Given the description of an element on the screen output the (x, y) to click on. 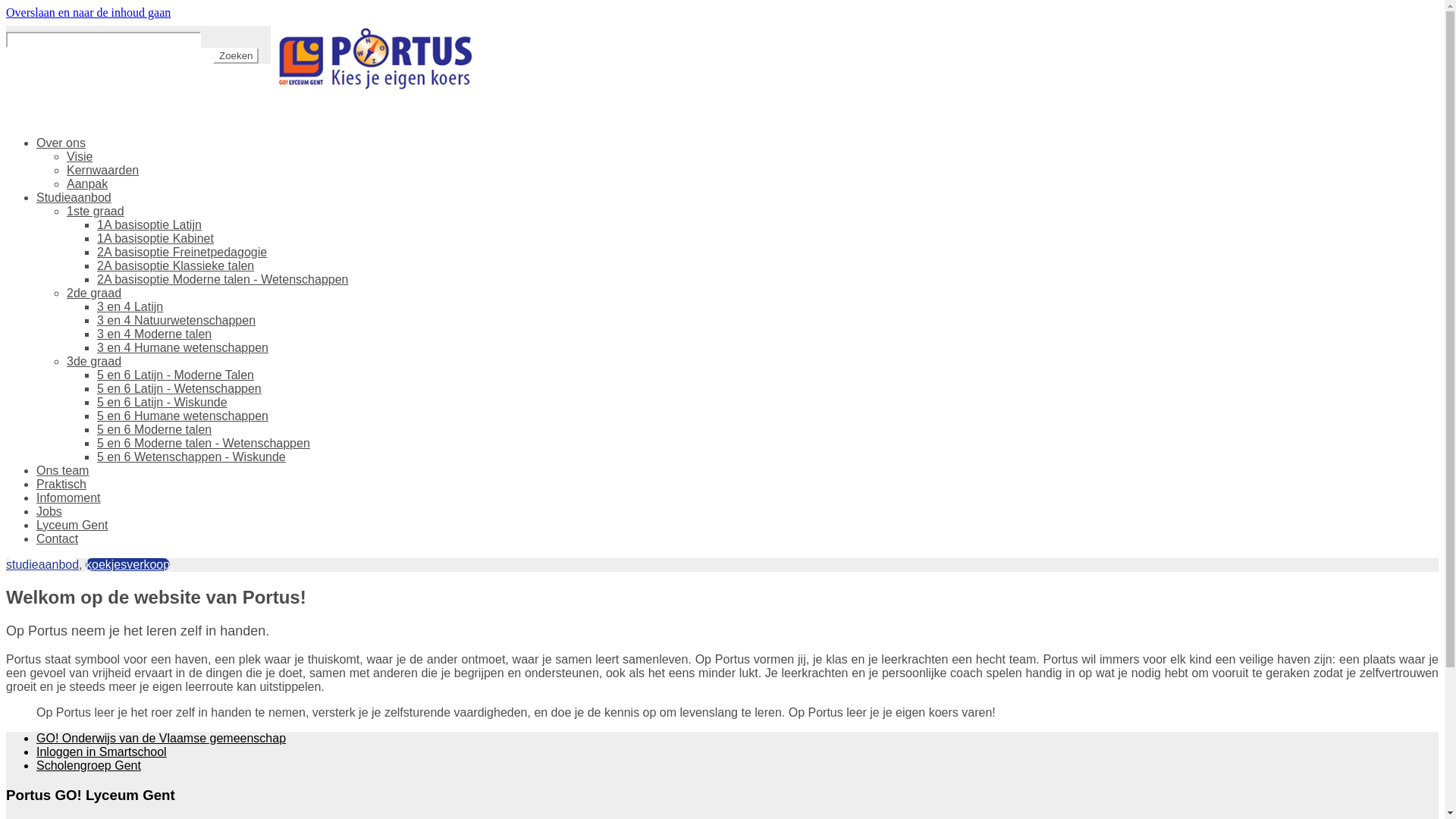
3 en 4 Natuurwetenschappen Element type: text (176, 319)
2A basisoptie Klassieke talen Element type: text (175, 265)
Overslaan en naar de inhoud gaan Element type: text (88, 12)
2A basisoptie Freinetpedagogie Element type: text (181, 251)
Contact Element type: text (57, 538)
studieaanbod Element type: text (42, 564)
5 en 6 Latijn - Wetenschappen Element type: text (179, 388)
Scholengroep Gent Element type: text (88, 765)
Kernwaarden Element type: text (102, 169)
3 en 4 Humane wetenschappen Element type: text (182, 347)
5 en 6 Humane wetenschappen Element type: text (182, 415)
1A basisoptie Latijn Element type: text (149, 224)
5 en 6 Latijn - Moderne Talen Element type: text (175, 374)
Jobs Element type: text (49, 511)
Visie Element type: text (79, 156)
5 en 6 Wetenschappen - Wiskunde Element type: text (191, 456)
Infomoment Element type: text (68, 497)
Home | Portus GO! Lyceum Gent Element type: hover (372, 89)
GO! Onderwijs van de Vlaamse gemeenschap Element type: text (160, 737)
Home | Portus GO! Lyceum Gent Element type: hover (372, 59)
Studieaanbod Element type: text (73, 197)
3 en 4 Moderne talen Element type: text (154, 333)
Inloggen in Smartschool Element type: text (101, 751)
5 en 6 Moderne talen Element type: text (154, 429)
Over ons Element type: text (60, 142)
1ste graad Element type: text (95, 210)
5 en 6 Moderne talen - Wetenschappen Element type: text (203, 442)
1A basisoptie Kabinet Element type: text (155, 238)
5 en 6 Latijn - Wiskunde Element type: text (162, 401)
2A basisoptie Moderne talen - Wetenschappen Element type: text (222, 279)
3 en 4 Latijn Element type: text (130, 306)
Praktisch Element type: text (61, 483)
Aanpak Element type: text (86, 183)
Lyceum Gent Element type: text (72, 524)
2de graad Element type: text (93, 292)
3de graad Element type: text (93, 360)
Ons team Element type: text (62, 470)
koekjesverkoop Element type: text (127, 564)
Zoeken Element type: text (235, 55)
